Given the description of an element on the screen output the (x, y) to click on. 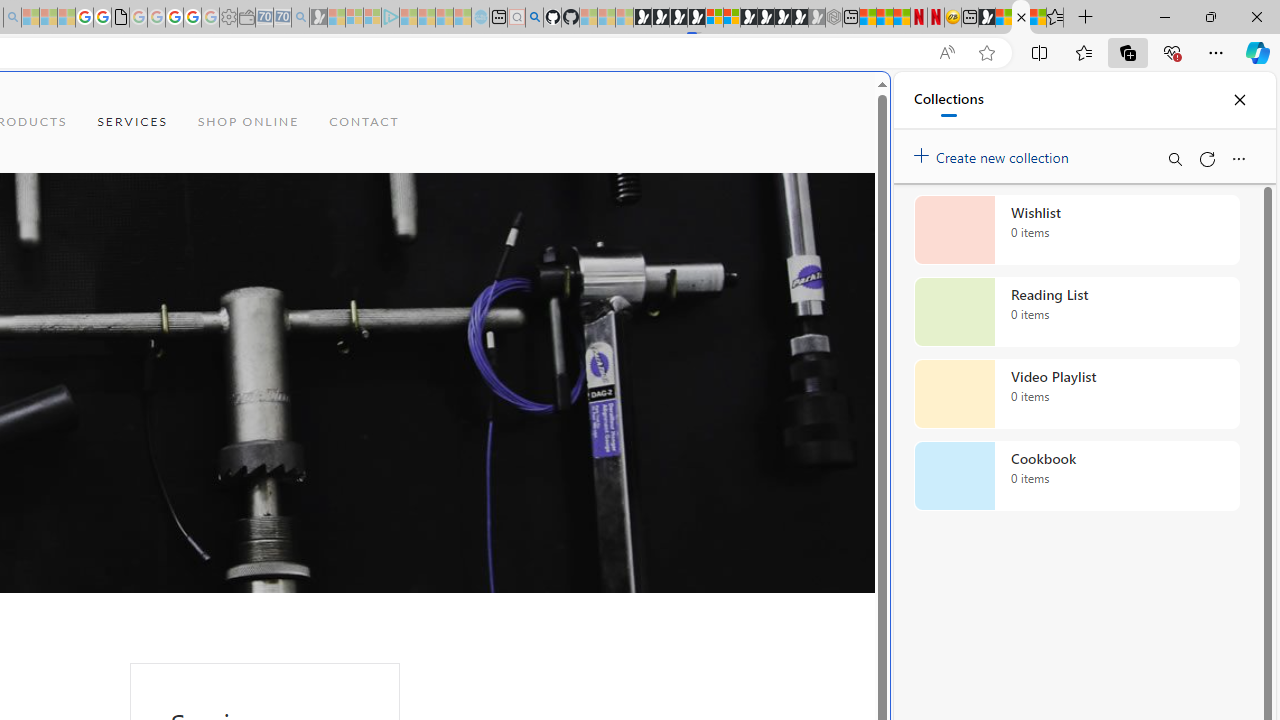
Settings - Sleeping (228, 17)
SERVICES (132, 122)
SHOP ONLINE (247, 122)
